Given the description of an element on the screen output the (x, y) to click on. 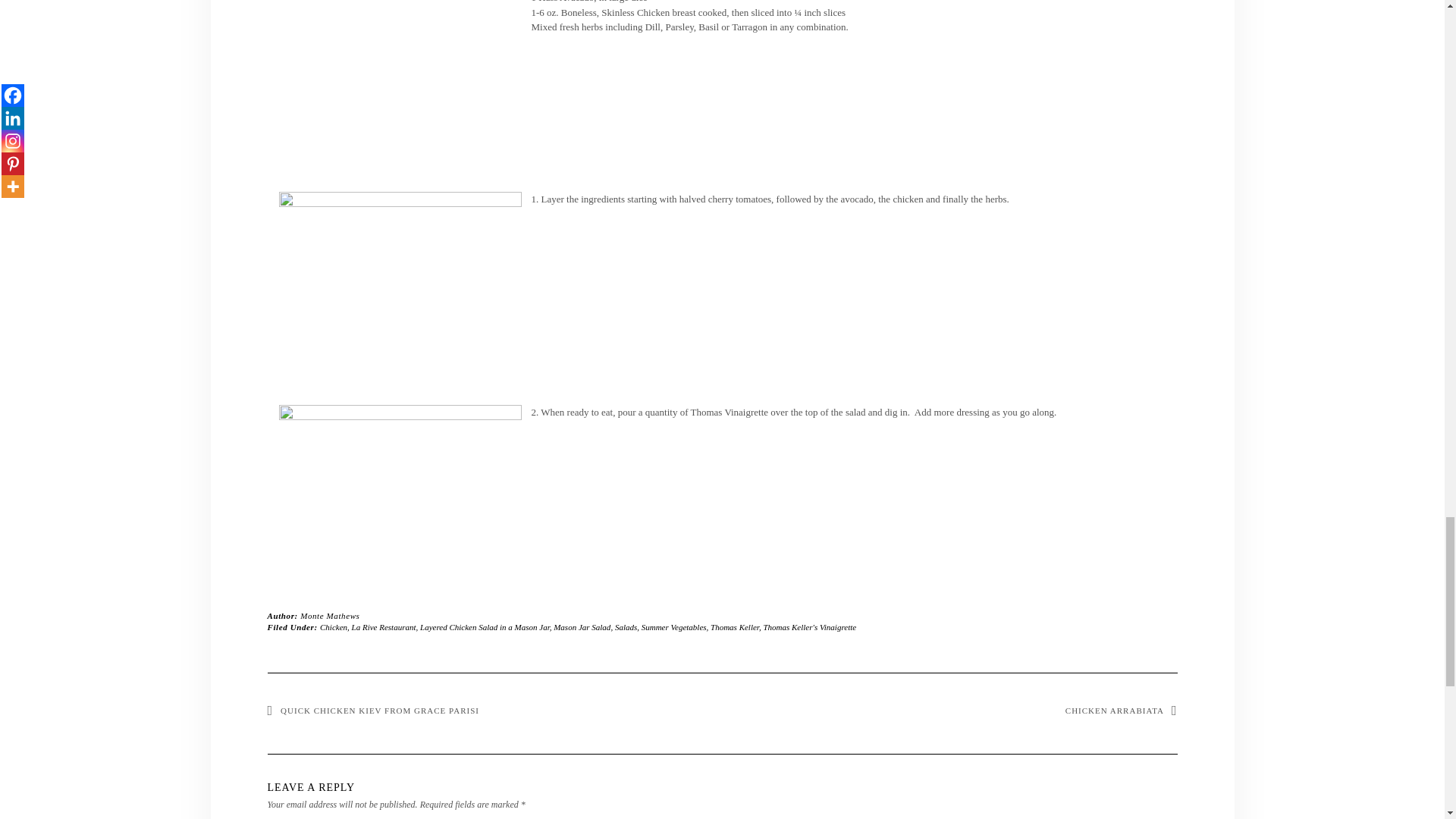
Posts by Monte Mathews (329, 614)
